Given the description of an element on the screen output the (x, y) to click on. 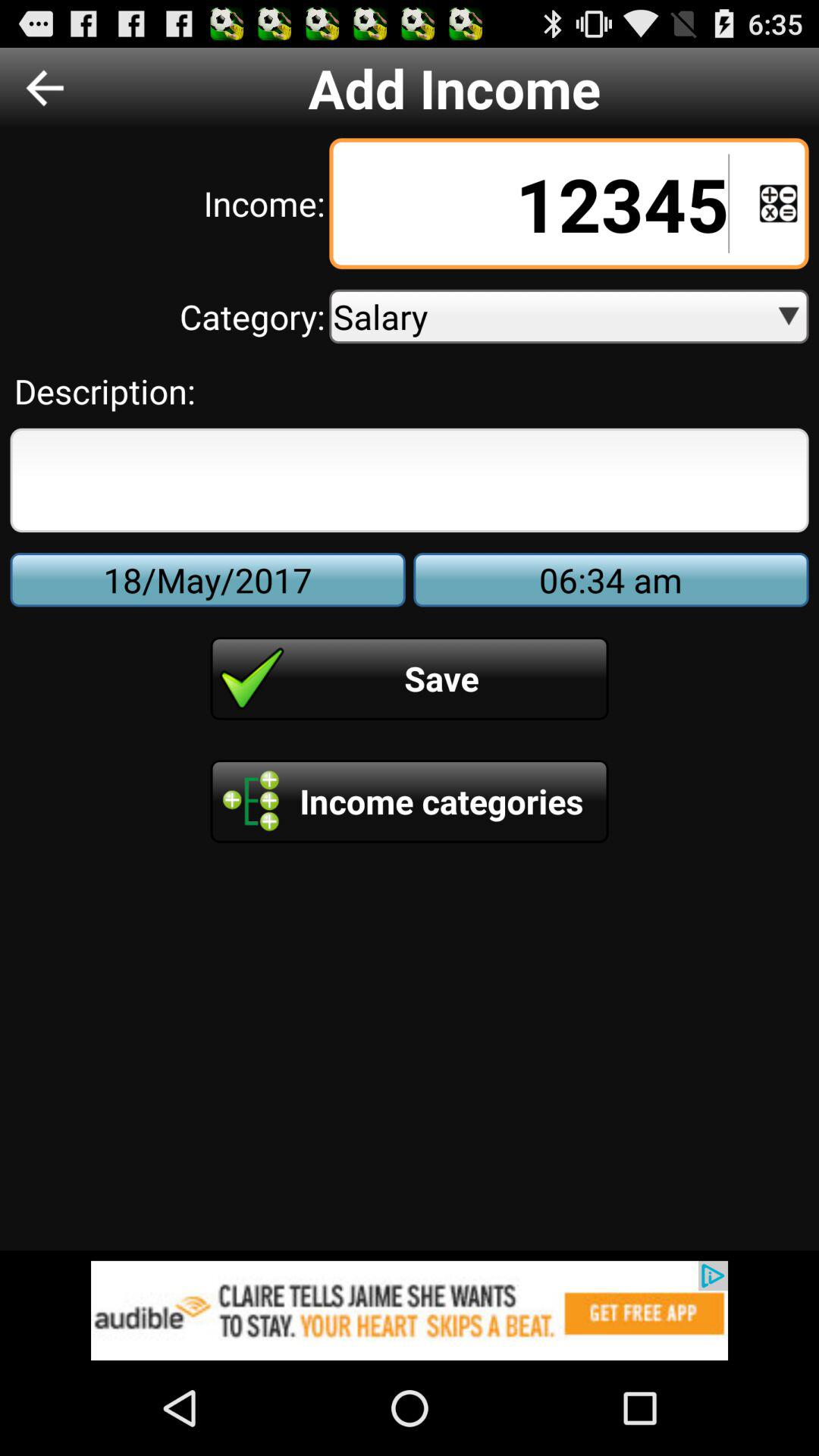
back button (44, 87)
